Given the description of an element on the screen output the (x, y) to click on. 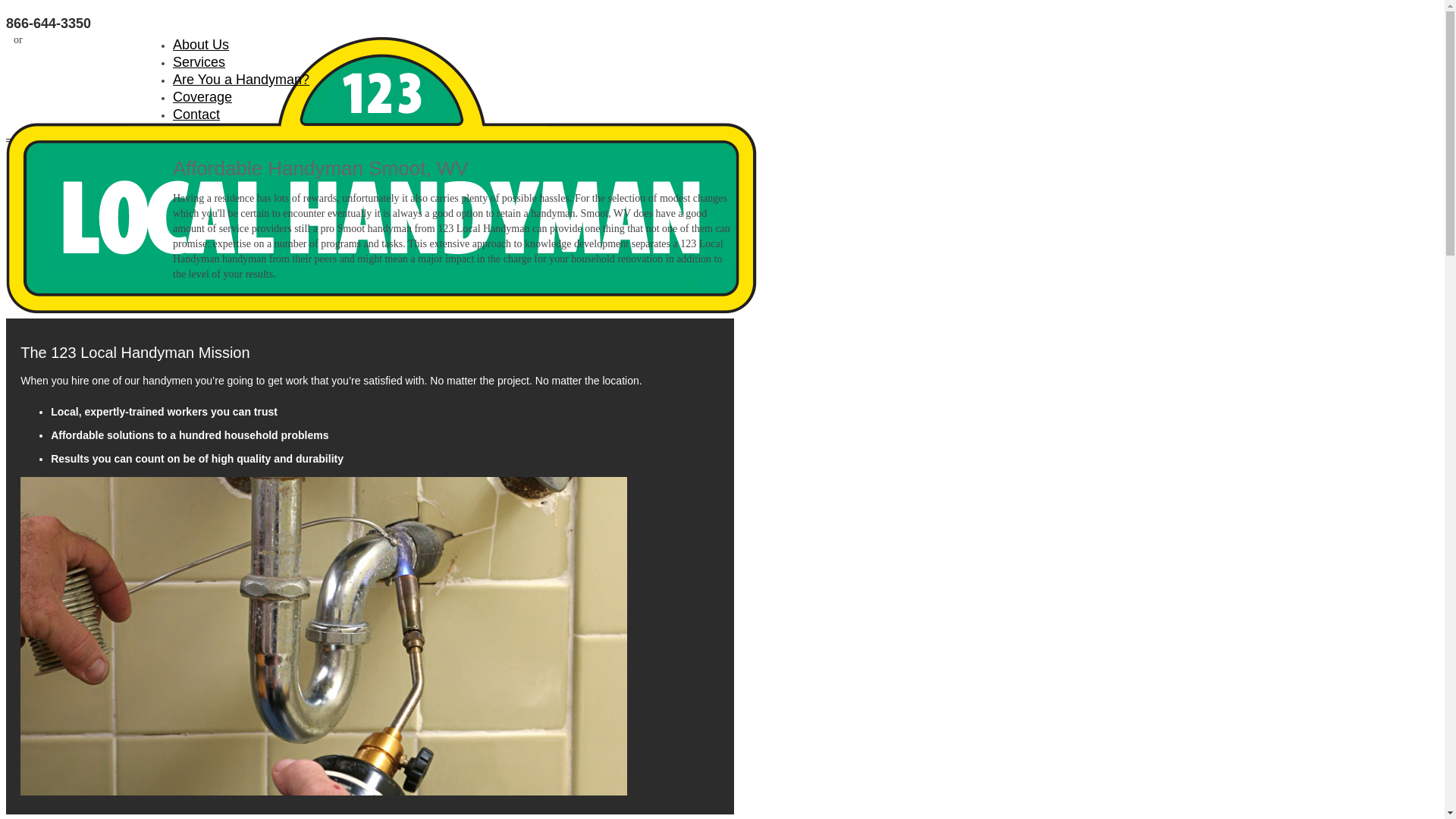
Are You a Handyman? Element type: text (240, 79)
Services Element type: text (198, 61)
123 Local Handyman Element type: hover (89, 177)
Contact Element type: text (195, 114)
Coverage Element type: text (202, 96)
Request a Free Quote Element type: text (99, 38)
About Us Element type: text (200, 44)
